Given the description of an element on the screen output the (x, y) to click on. 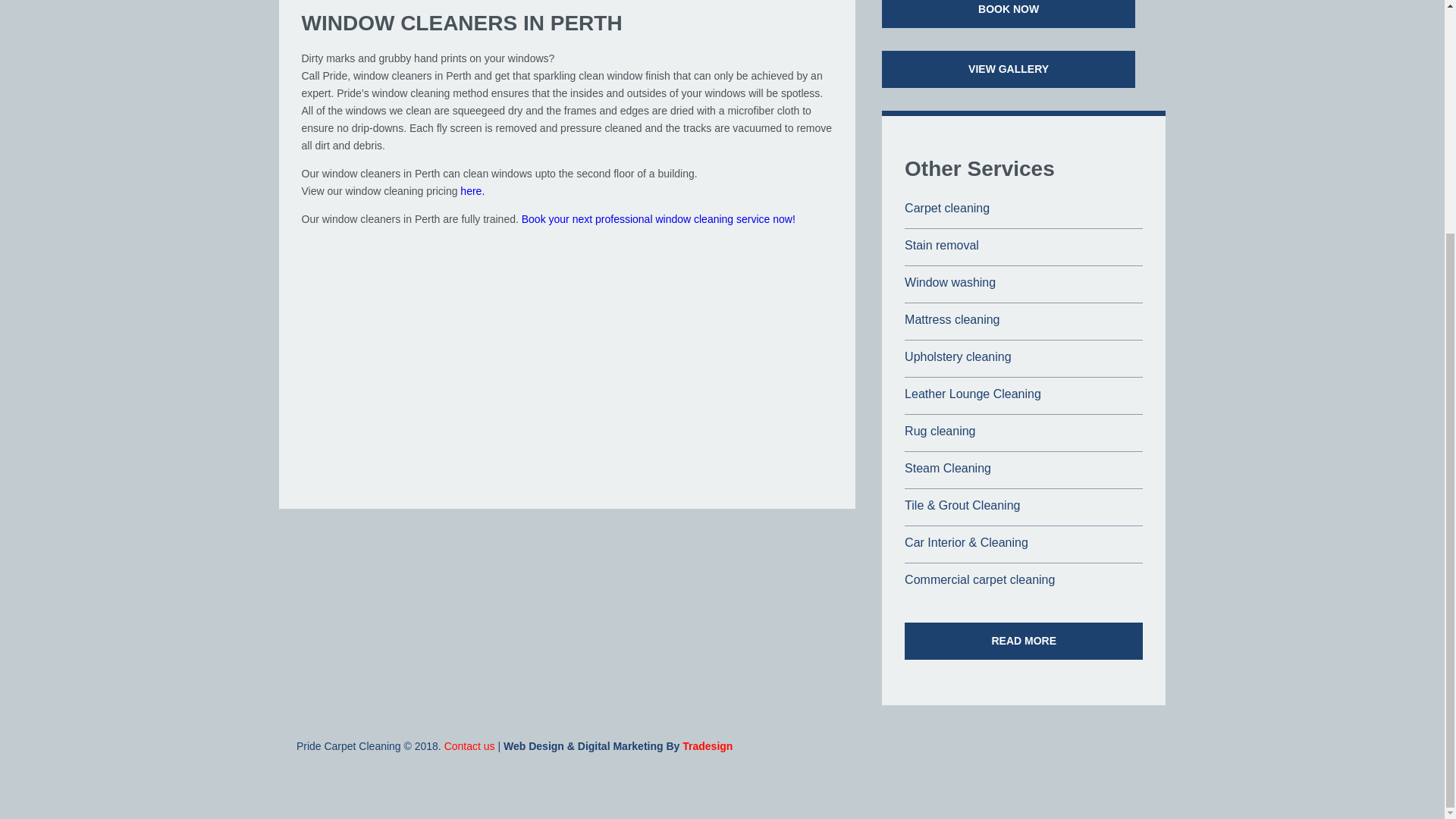
Mattress cleaning (951, 318)
Window washing (949, 282)
here. (472, 191)
Upholstery cleaning (957, 356)
Carpet cleaning (947, 207)
Stain removal (941, 245)
BOOK NOW (1008, 13)
Book your next professional window cleaning service now! (657, 218)
VIEW GALLERY (1008, 68)
